Given the description of an element on the screen output the (x, y) to click on. 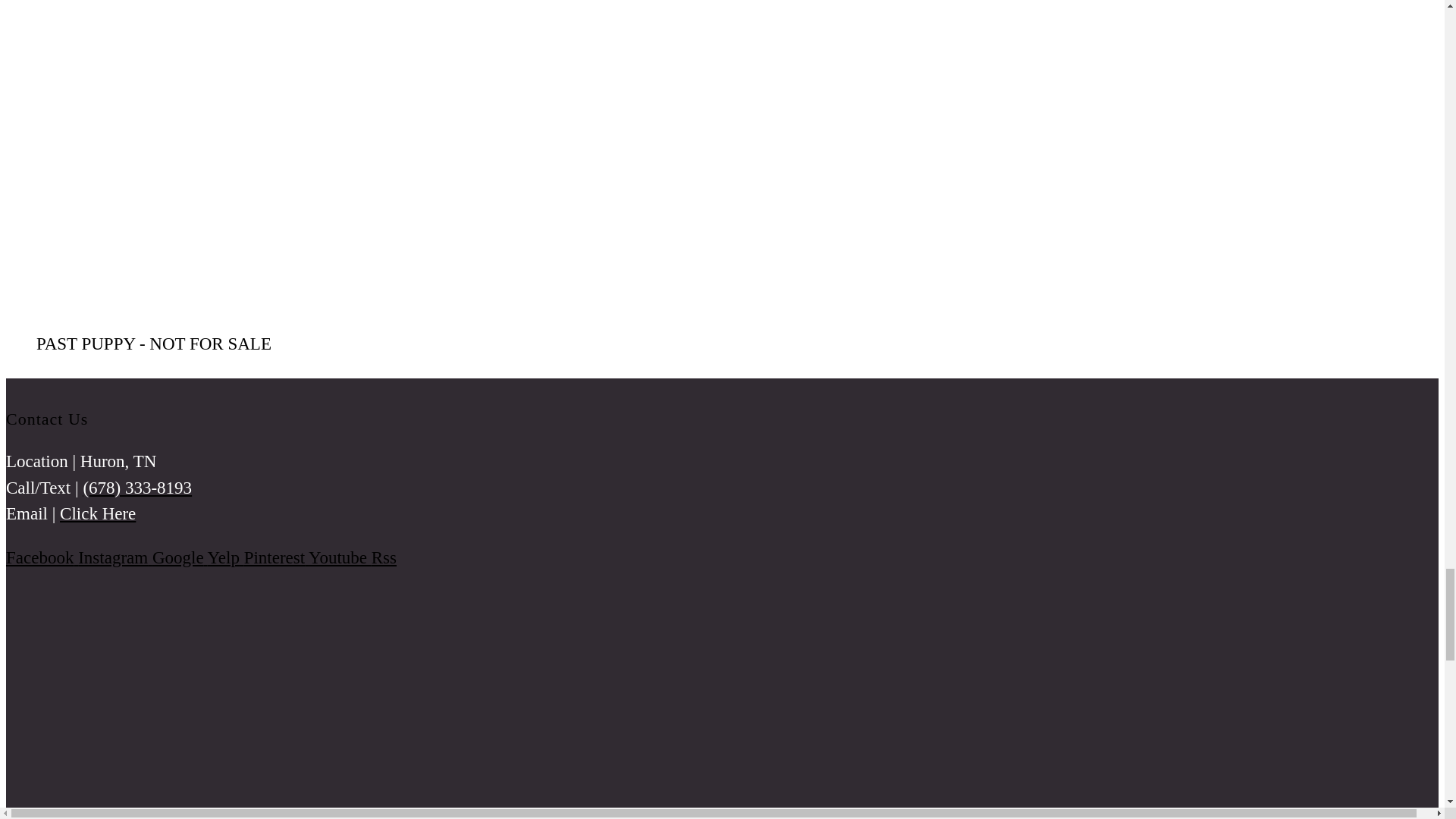
Google (180, 557)
Yelp (226, 557)
Instagram (115, 557)
Facebook (41, 557)
Pinterest (276, 557)
Rss (383, 557)
Click Here (97, 513)
Youtube (339, 557)
